Given the description of an element on the screen output the (x, y) to click on. 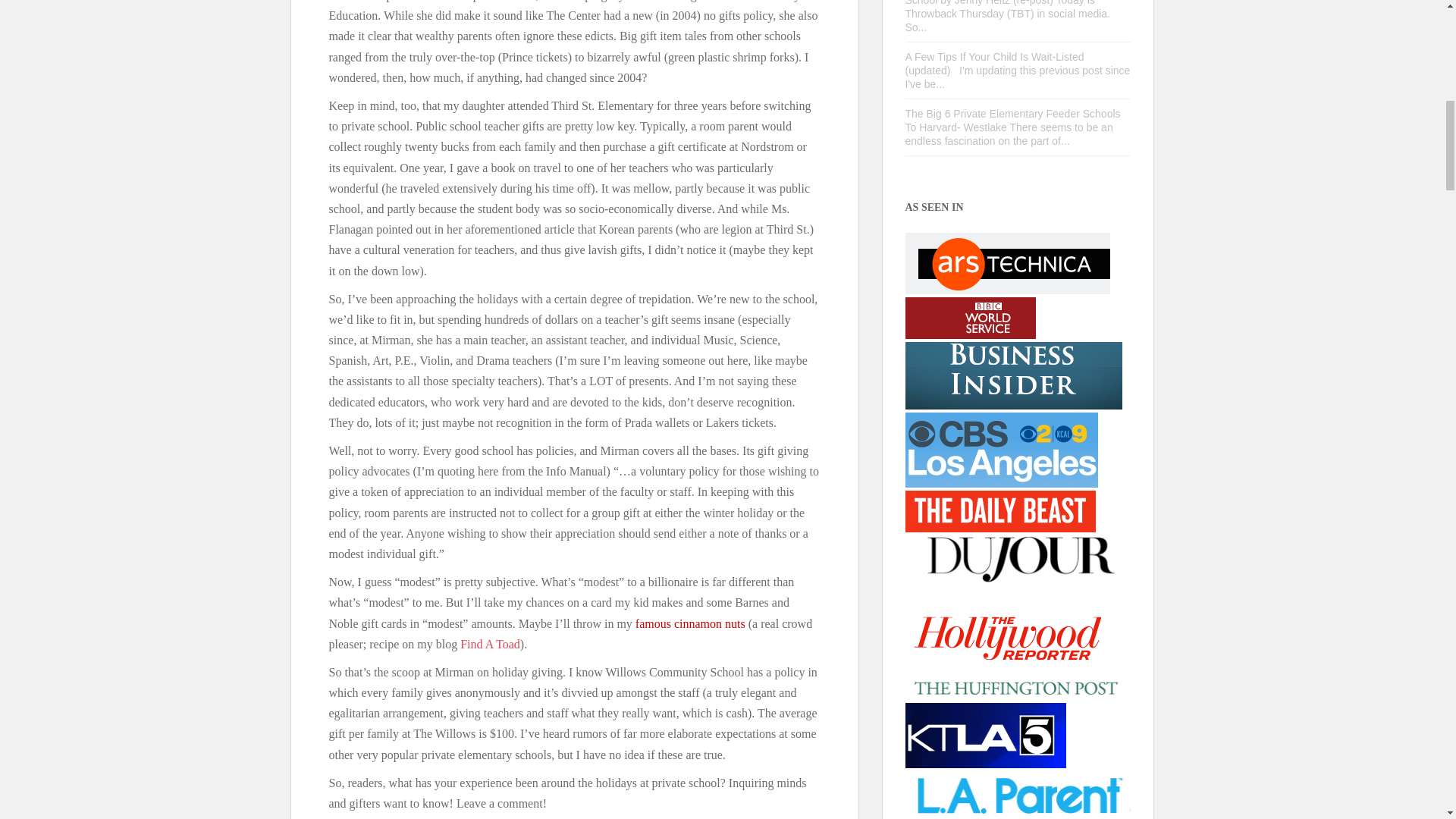
Find A Toad (489, 644)
